Given the description of an element on the screen output the (x, y) to click on. 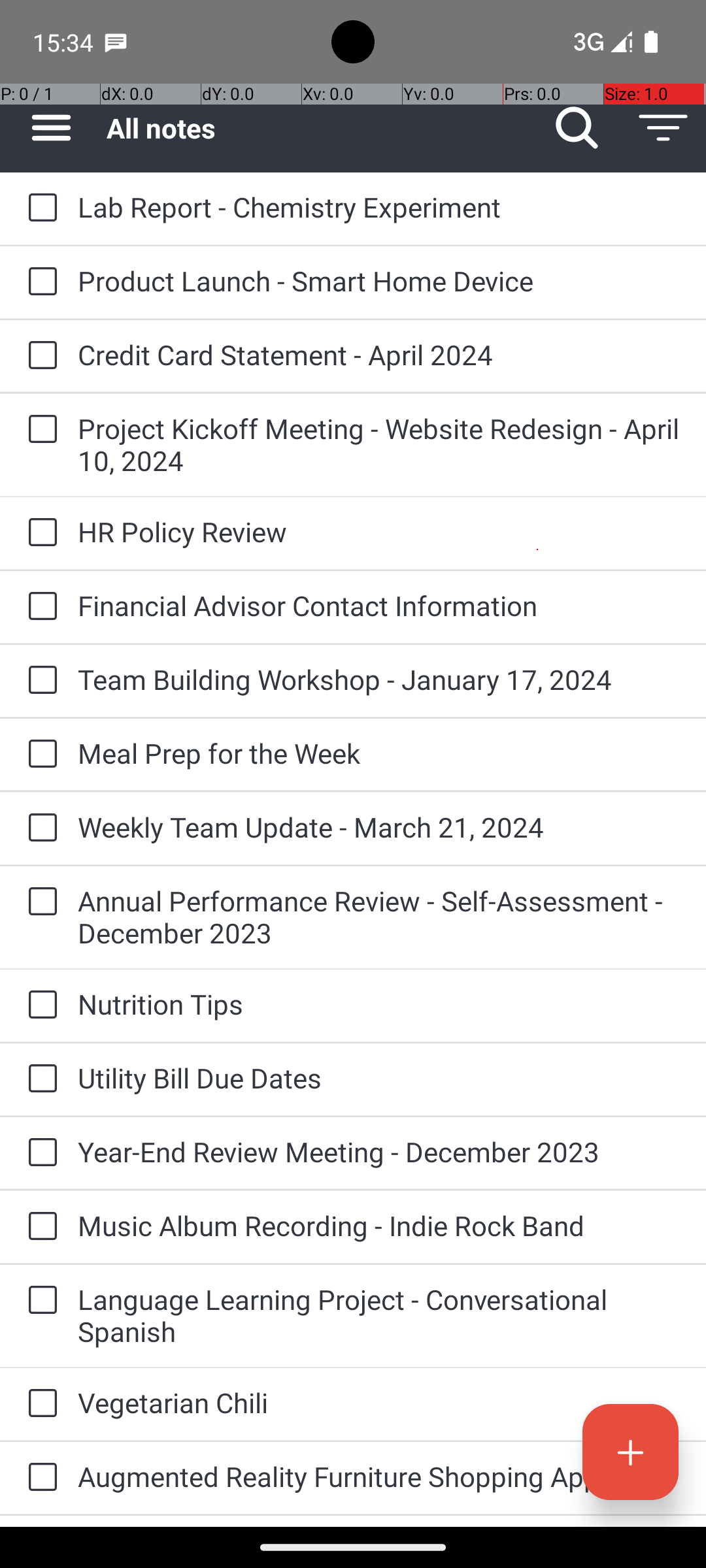
to-do: Lab Report - Chemistry Experiment Element type: android.widget.CheckBox (38, 208)
Lab Report - Chemistry Experiment Element type: android.widget.TextView (378, 206)
to-do: Product Launch - Smart Home Device Element type: android.widget.CheckBox (38, 282)
Product Launch - Smart Home Device Element type: android.widget.TextView (378, 280)
to-do: Credit Card Statement - April 2024 Element type: android.widget.CheckBox (38, 356)
Credit Card Statement - April 2024 Element type: android.widget.TextView (378, 354)
to-do: Project Kickoff Meeting - Website Redesign - April 10, 2024 Element type: android.widget.CheckBox (38, 429)
Project Kickoff Meeting - Website Redesign - April 10, 2024 Element type: android.widget.TextView (378, 443)
to-do: HR Policy Review Element type: android.widget.CheckBox (38, 533)
HR Policy Review Element type: android.widget.TextView (378, 531)
to-do: Financial Advisor Contact Information Element type: android.widget.CheckBox (38, 606)
Financial Advisor Contact Information Element type: android.widget.TextView (378, 604)
to-do: Team Building Workshop - January 17, 2024 Element type: android.widget.CheckBox (38, 680)
Team Building Workshop - January 17, 2024 Element type: android.widget.TextView (378, 678)
to-do: Meal Prep for the Week Element type: android.widget.CheckBox (38, 754)
Meal Prep for the Week Element type: android.widget.TextView (378, 752)
to-do: Weekly Team Update - March 21, 2024 Element type: android.widget.CheckBox (38, 828)
Weekly Team Update - March 21, 2024 Element type: android.widget.TextView (378, 826)
to-do: Annual Performance Review - Self-Assessment - December 2023 Element type: android.widget.CheckBox (38, 902)
Annual Performance Review - Self-Assessment - December 2023 Element type: android.widget.TextView (378, 916)
to-do: Nutrition Tips Element type: android.widget.CheckBox (38, 1005)
Nutrition Tips Element type: android.widget.TextView (378, 1003)
to-do: Utility Bill Due Dates Element type: android.widget.CheckBox (38, 1079)
Utility Bill Due Dates Element type: android.widget.TextView (378, 1077)
to-do: Year-End Review Meeting - December 2023 Element type: android.widget.CheckBox (38, 1153)
Year-End Review Meeting - December 2023 Element type: android.widget.TextView (378, 1151)
to-do: Music Album Recording - Indie Rock Band Element type: android.widget.CheckBox (38, 1227)
Music Album Recording - Indie Rock Band Element type: android.widget.TextView (378, 1224)
to-do: Language Learning Project - Conversational Spanish Element type: android.widget.CheckBox (38, 1300)
Language Learning Project - Conversational Spanish Element type: android.widget.TextView (378, 1314)
to-do: Vegetarian Chili Element type: android.widget.CheckBox (38, 1403)
Vegetarian Chili Element type: android.widget.TextView (378, 1402)
to-do: Augmented Reality Furniture Shopping App Element type: android.widget.CheckBox (38, 1477)
Augmented Reality Furniture Shopping App Element type: android.widget.TextView (378, 1475)
to-do: Campus Event Calendar Element type: android.widget.CheckBox (38, 1520)
